Given the description of an element on the screen output the (x, y) to click on. 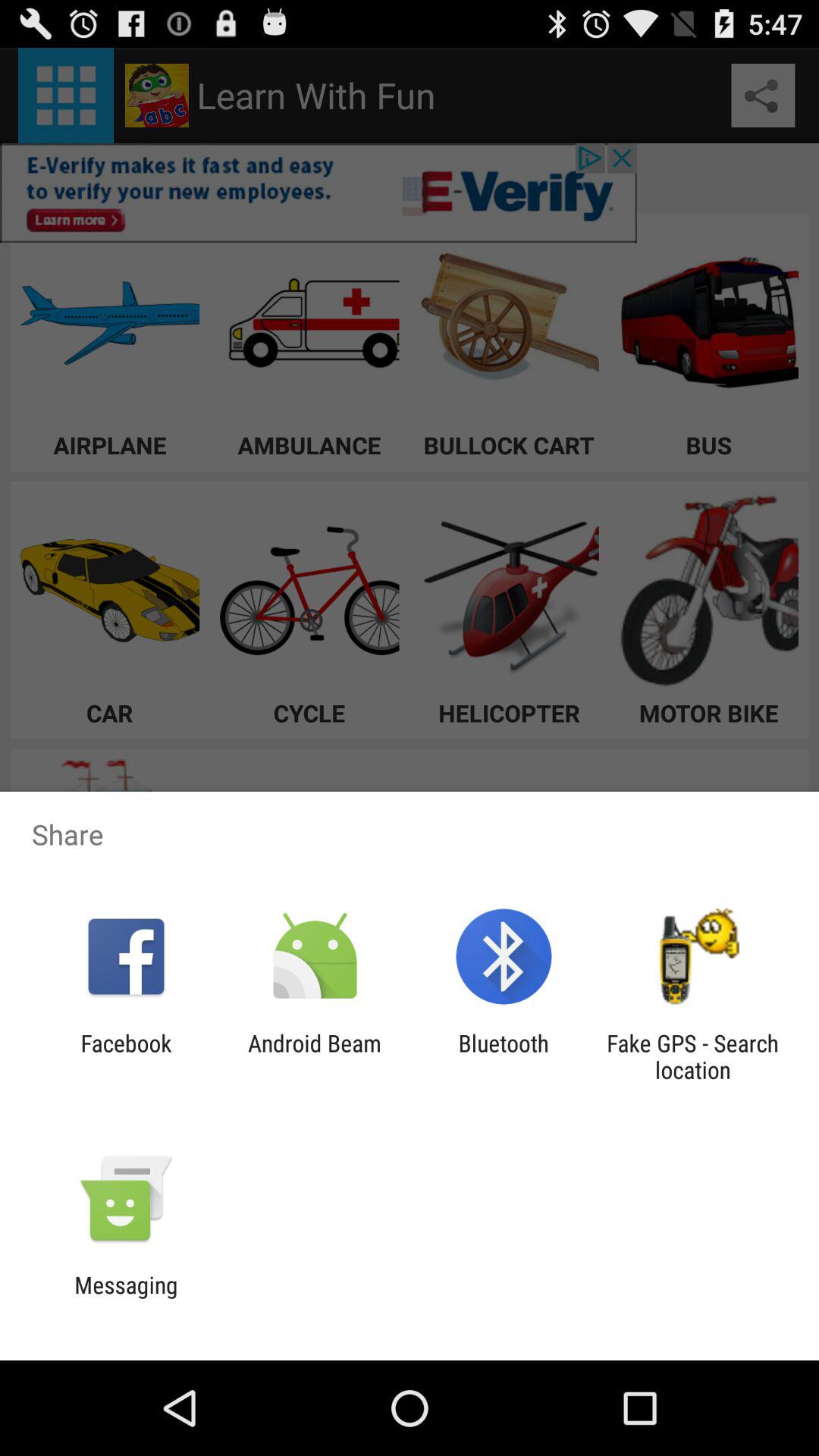
launch item to the left of the bluetooth item (314, 1056)
